Given the description of an element on the screen output the (x, y) to click on. 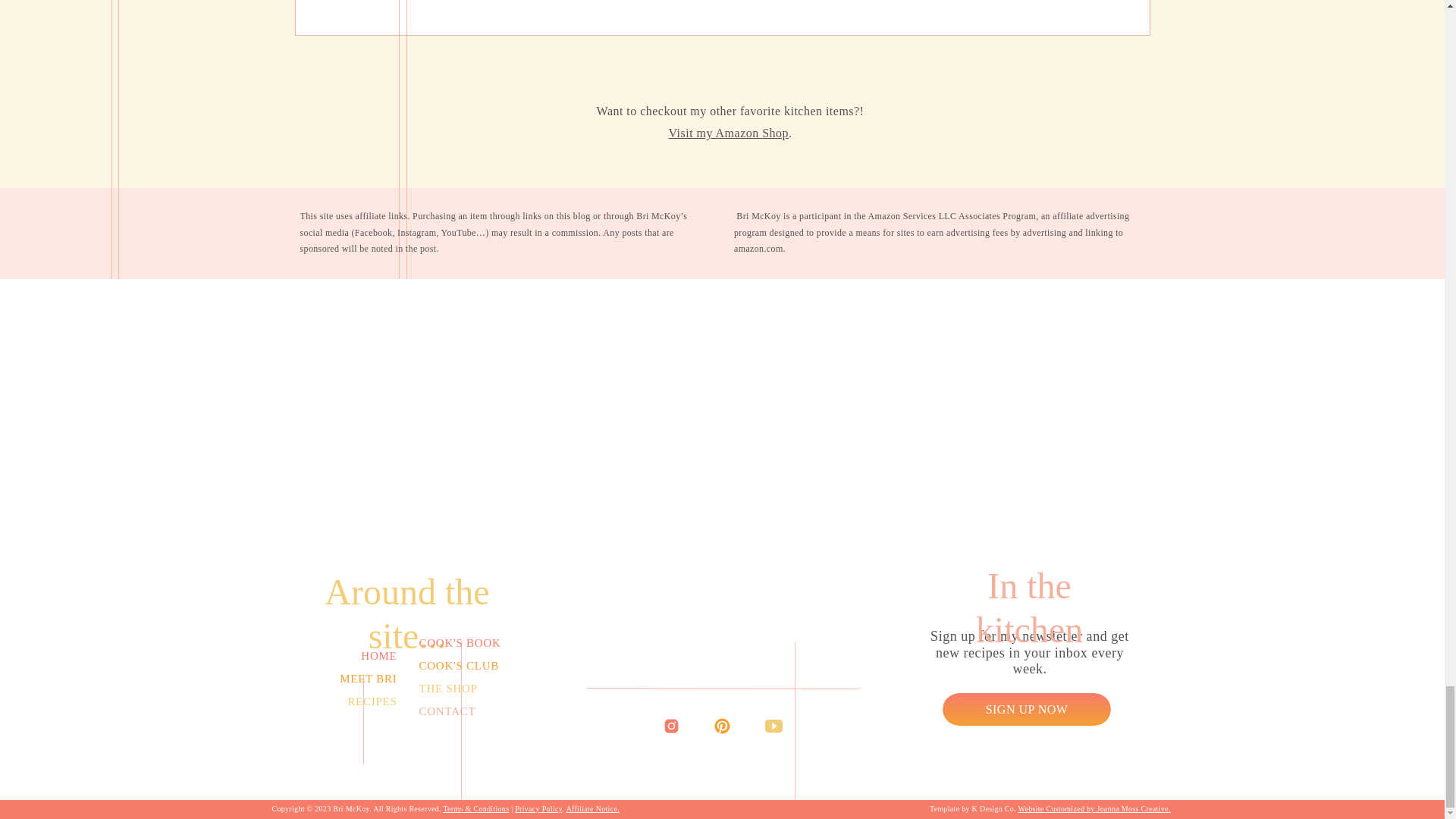
HOME (351, 655)
RECIPES (351, 701)
Visit my Amazon Shop (728, 132)
CONTACT (463, 711)
